Given the description of an element on the screen output the (x, y) to click on. 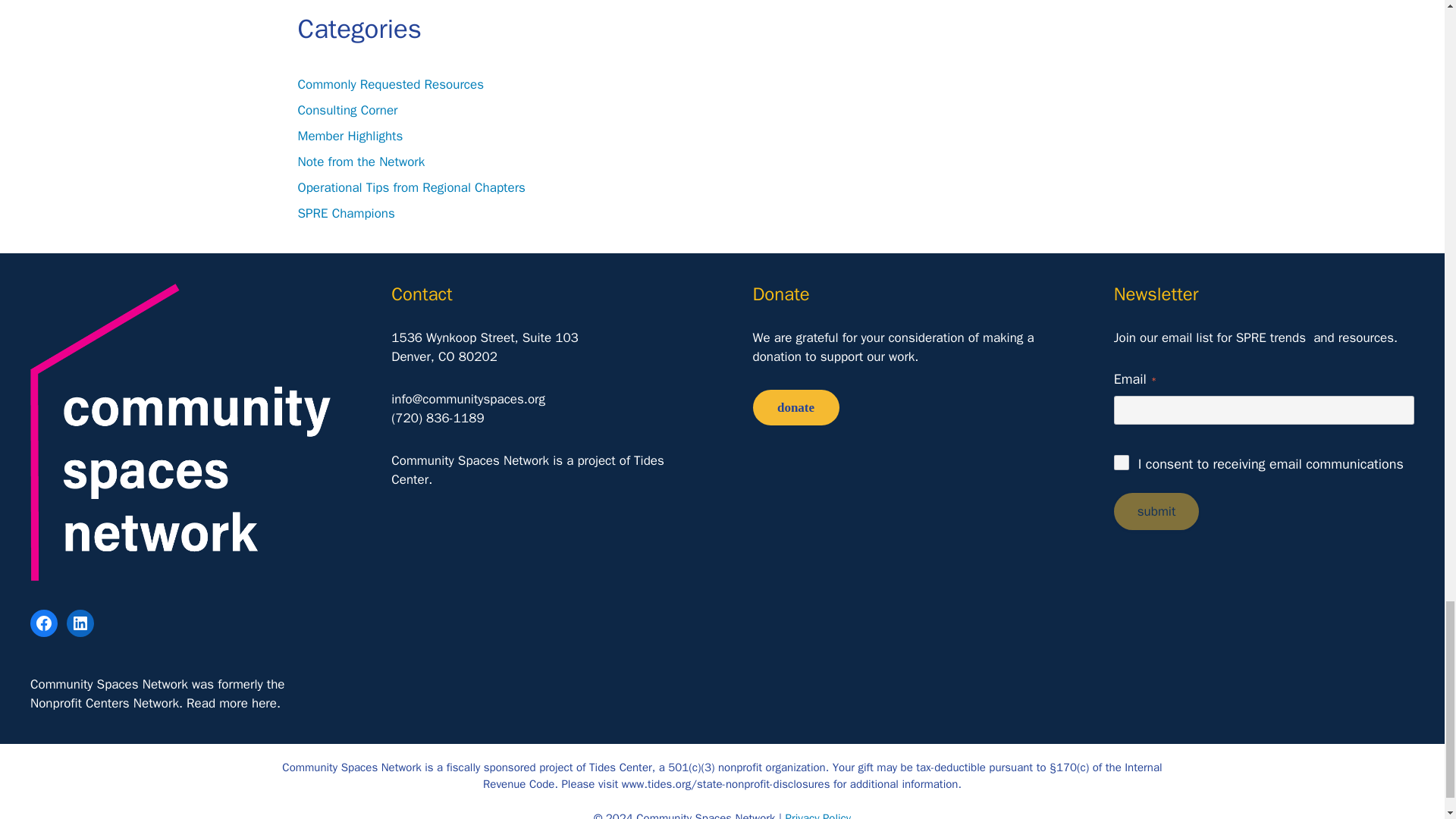
submit (1156, 511)
1 (1121, 462)
